Given the description of an element on the screen output the (x, y) to click on. 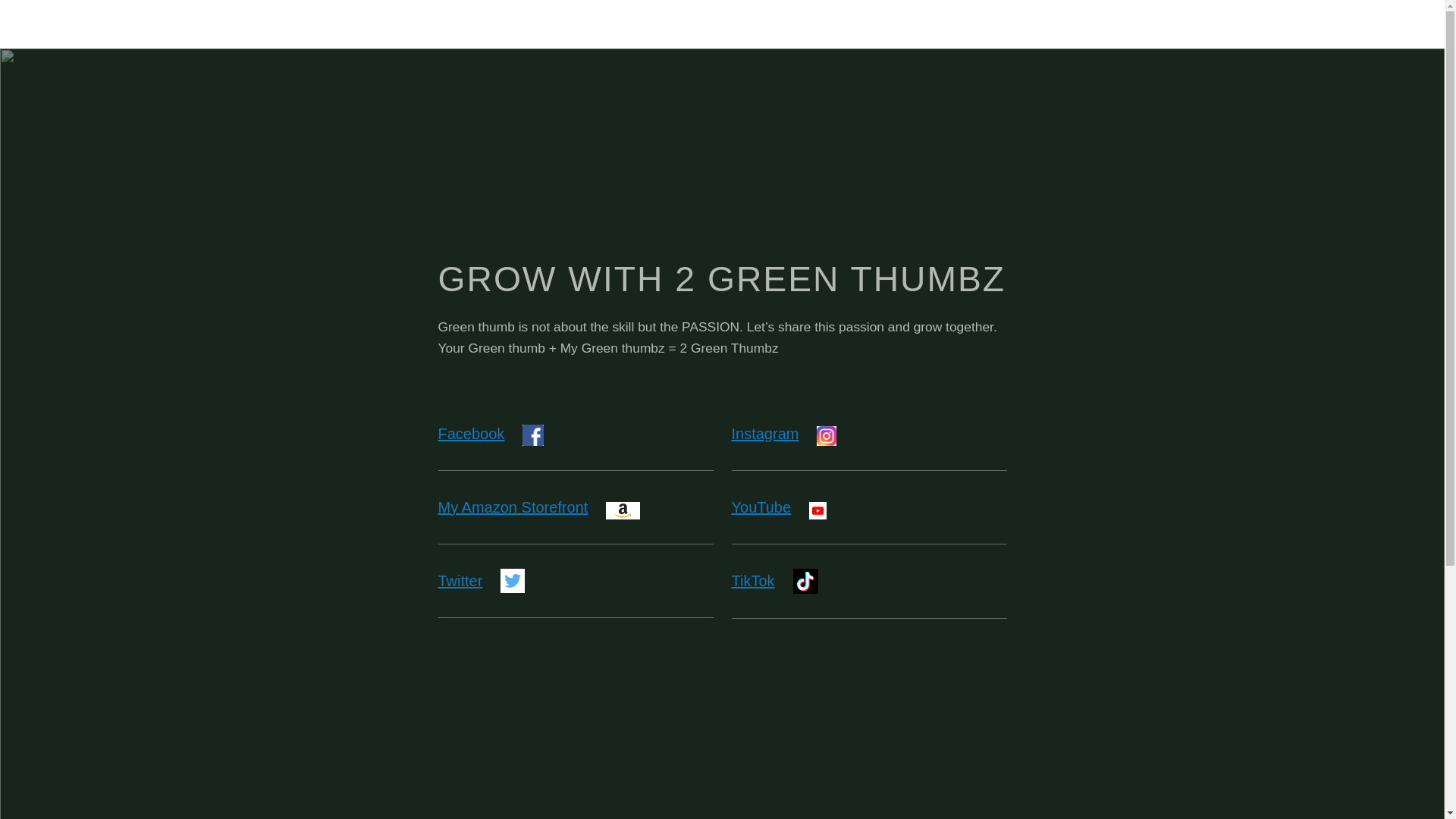
Twitter Element type: text (460, 580)
o Element type: text (762, 580)
Facebook Element type: text (471, 433)
k Element type: text (771, 580)
YouTube Element type: text (760, 506)
Instagram Element type: text (764, 433)
My Amazon Storefront Element type: text (513, 506)
TikT Element type: text (744, 580)
